Given the description of an element on the screen output the (x, y) to click on. 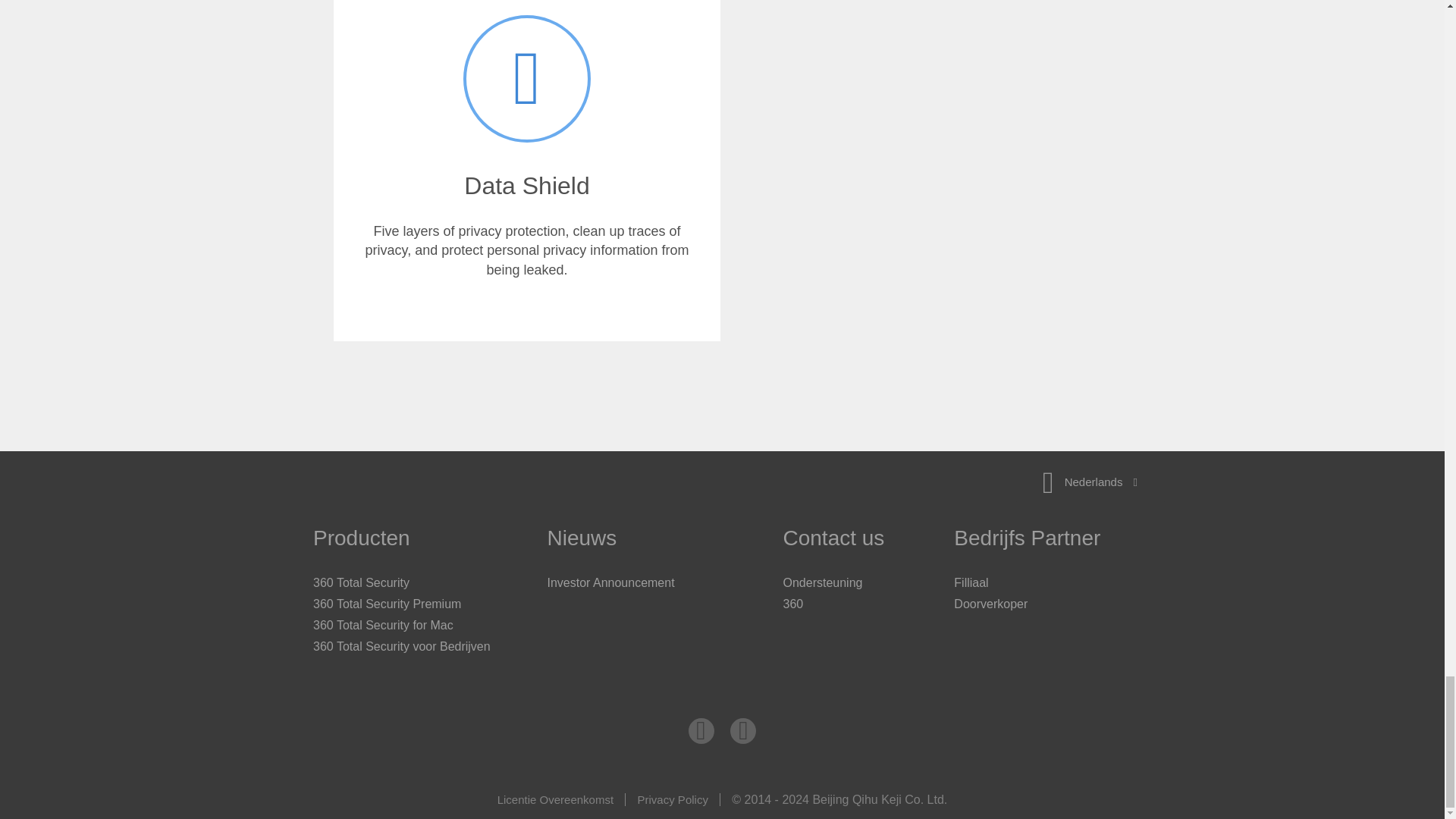
360 Total Security (361, 582)
360 Total Security Premium (387, 603)
Nederlands (1090, 482)
